Given the description of an element on the screen output the (x, y) to click on. 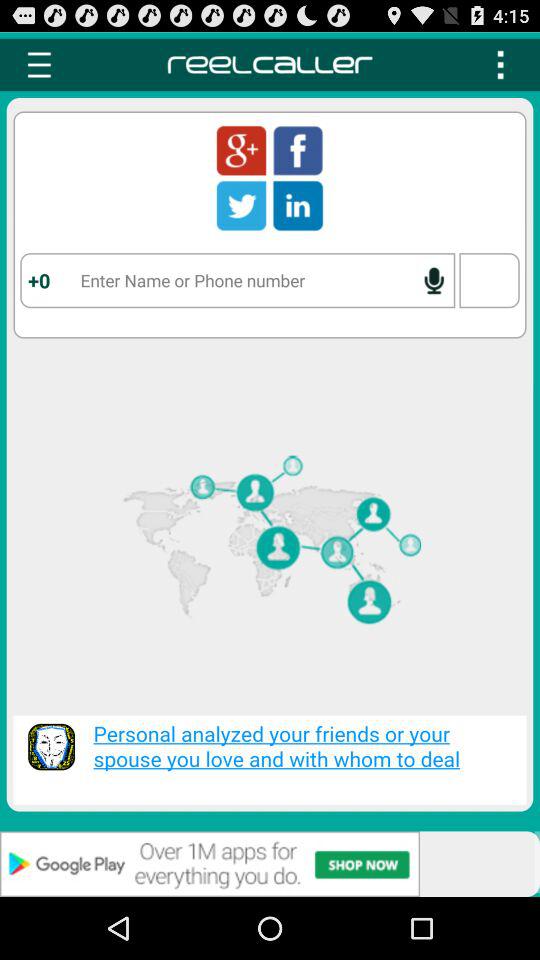
go to mail (241, 150)
